Given the description of an element on the screen output the (x, y) to click on. 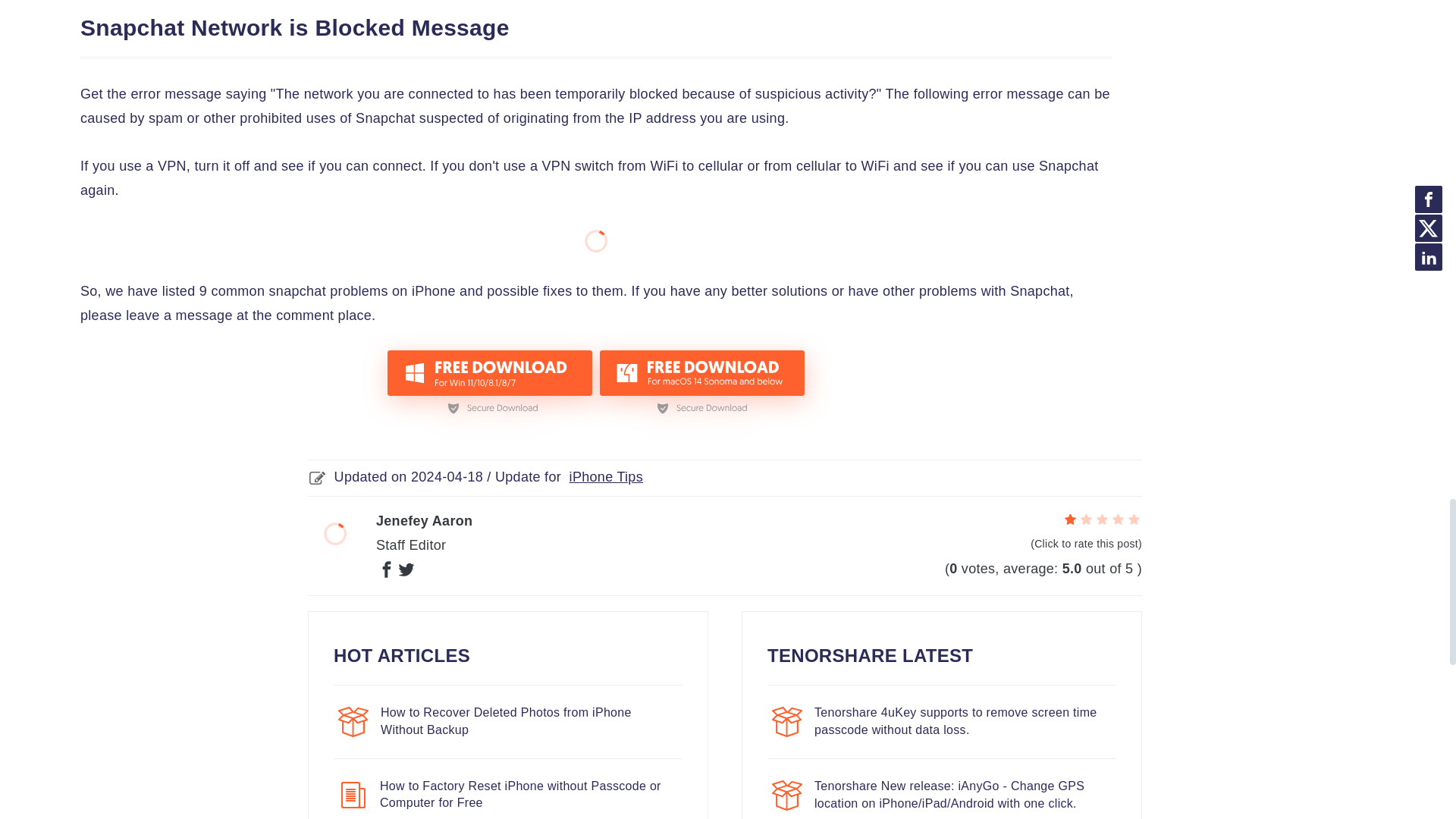
4 (1118, 519)
2 (1086, 519)
3 (1102, 519)
1 (1070, 519)
5 (1133, 519)
